Given the description of an element on the screen output the (x, y) to click on. 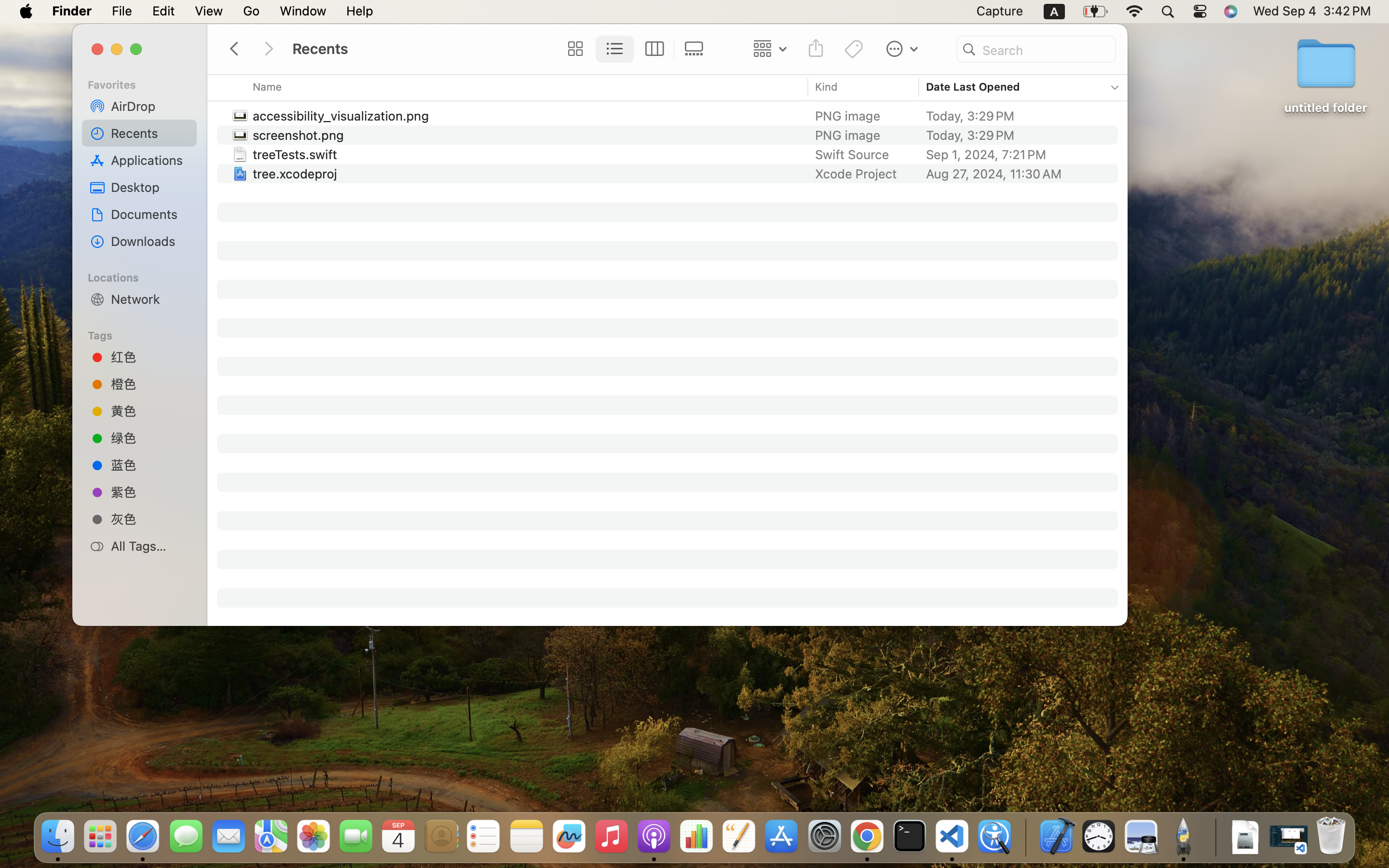
紫色 Element type: AXStaticText (149, 491)
Today, 3:29 PM Element type: AXStaticText (1015, 134)
1 Element type: AXRadioButton (614, 48)
Desktop Element type: AXStaticText (149, 186)
Sep 1, 2024, 7:21 PM Element type: AXStaticText (1015, 154)
